Given the description of an element on the screen output the (x, y) to click on. 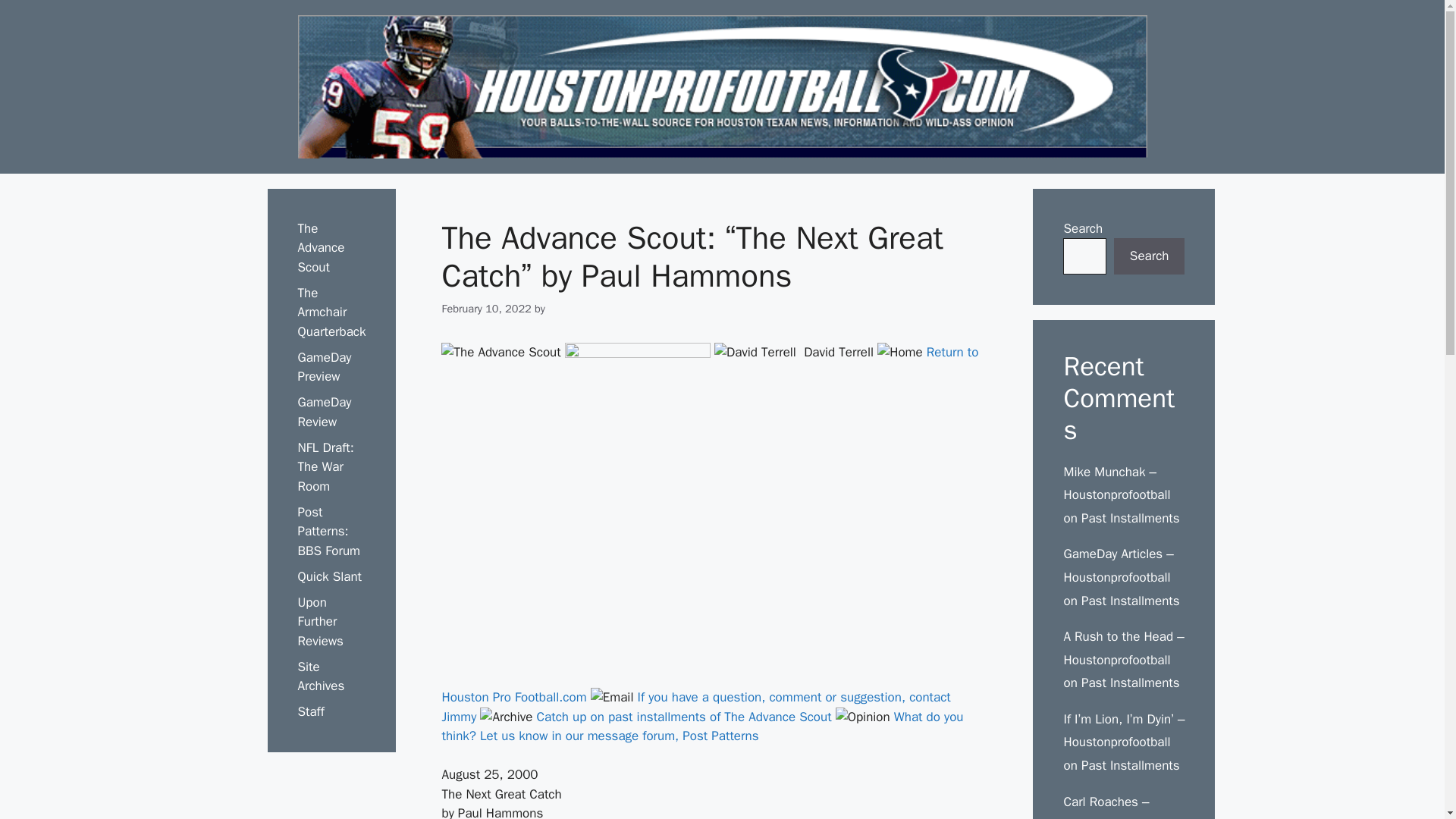
Staff (310, 711)
Past Installments (1130, 518)
Post Patterns: BBS Forum (328, 531)
The Armchair Quarterback (331, 312)
NFL Draft: The War Room (325, 466)
Quick Slant (329, 576)
Past Installments (1130, 600)
Site Archives (320, 676)
GameDay Preview (323, 366)
